Given the description of an element on the screen output the (x, y) to click on. 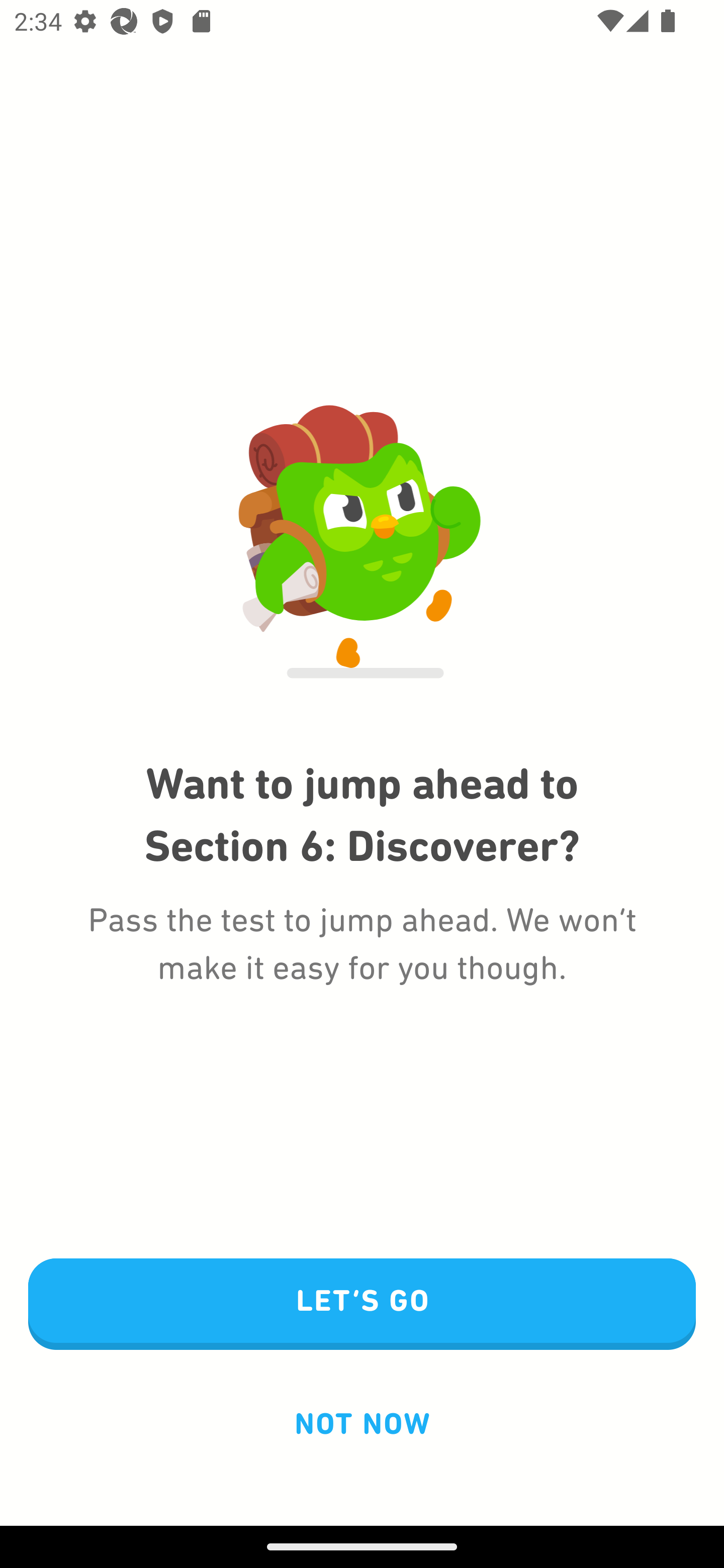
LET’S GO (361, 1304)
NOT NOW (361, 1423)
